Given the description of an element on the screen output the (x, y) to click on. 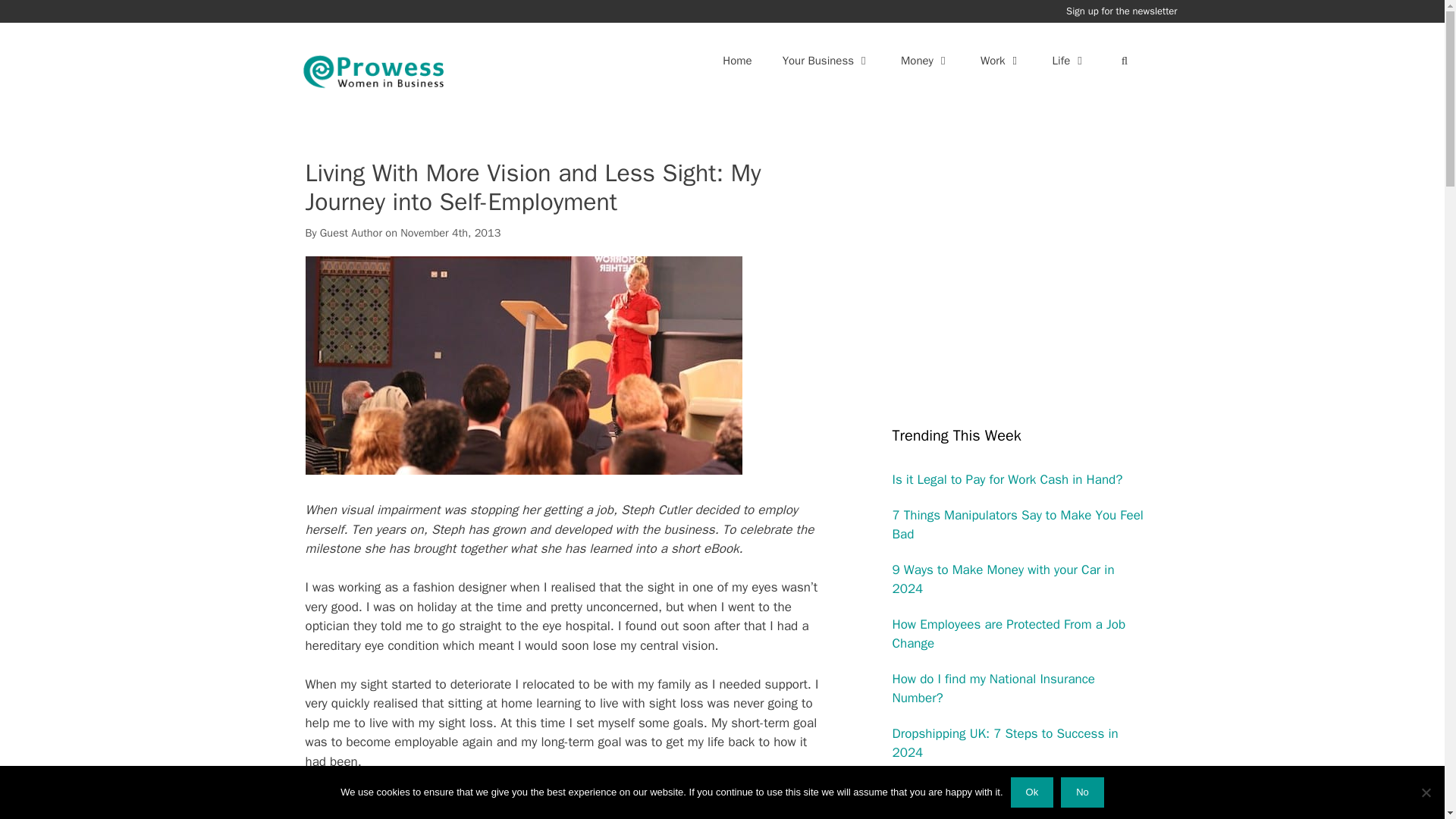
Posts by Guest Author (350, 232)
Your Business (826, 60)
Money (925, 60)
Work (1000, 60)
Home (737, 60)
Life (1069, 60)
Sign up for the newsletter (1120, 10)
